Given the description of an element on the screen output the (x, y) to click on. 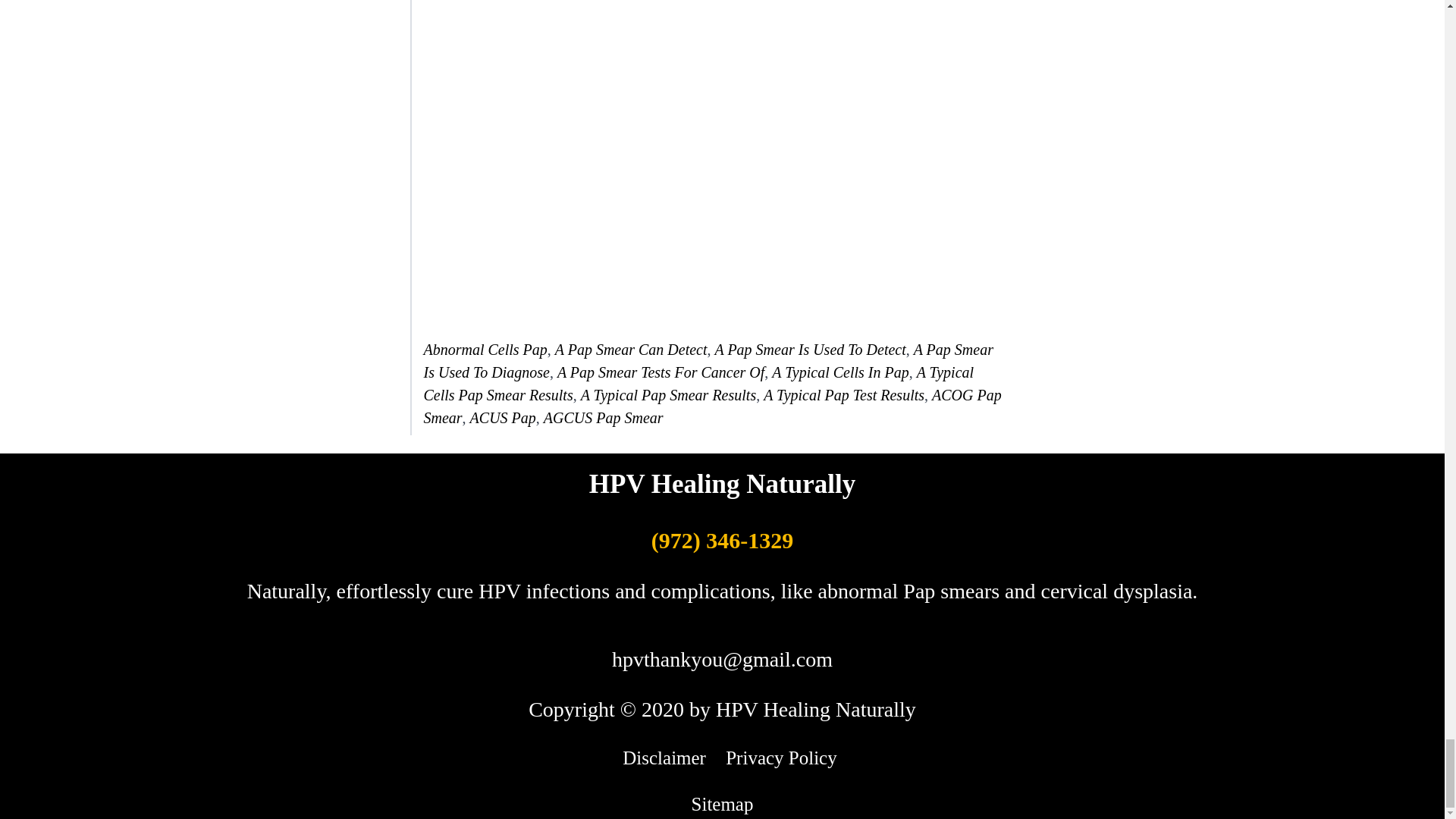
A Pap Smear Can Detect (630, 349)
Abnormal Cells Pap (485, 349)
A Pap Smear Is Used To Diagnose (707, 360)
A Pap Smear Is Used To Detect (809, 349)
A Pap Smear Tests For Cancer Of (660, 371)
